Given the description of an element on the screen output the (x, y) to click on. 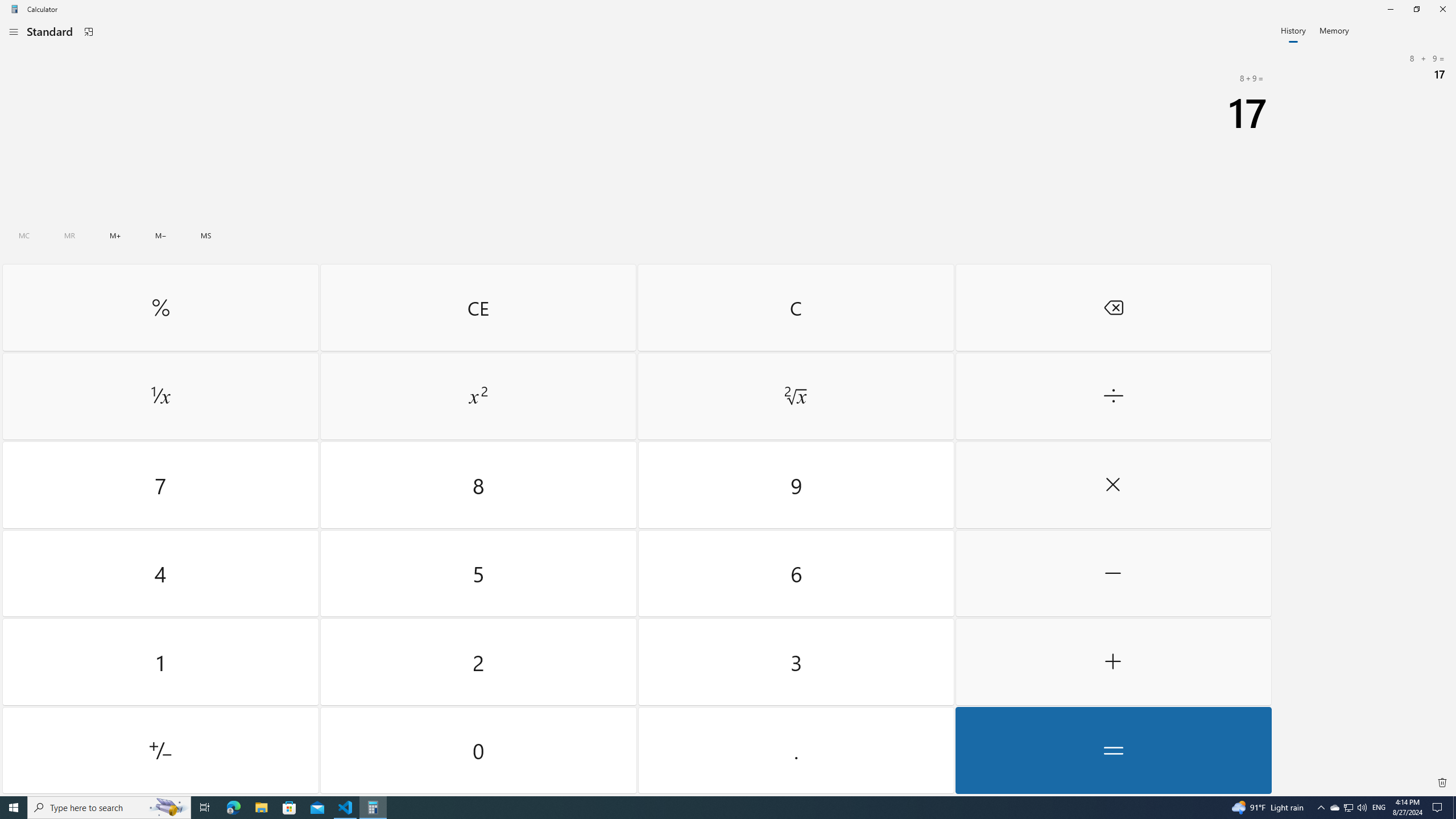
Search highlights icon opens search home window (167, 807)
Memory recall (69, 235)
Memory store (206, 235)
Plus (1113, 661)
Reciprocal (160, 396)
Running applications (706, 807)
History (1293, 29)
Open Navigation (13, 31)
Keep on top (88, 31)
Three (795, 661)
Clear (795, 307)
Microsoft Edge (233, 807)
File Explorer (261, 807)
